Given the description of an element on the screen output the (x, y) to click on. 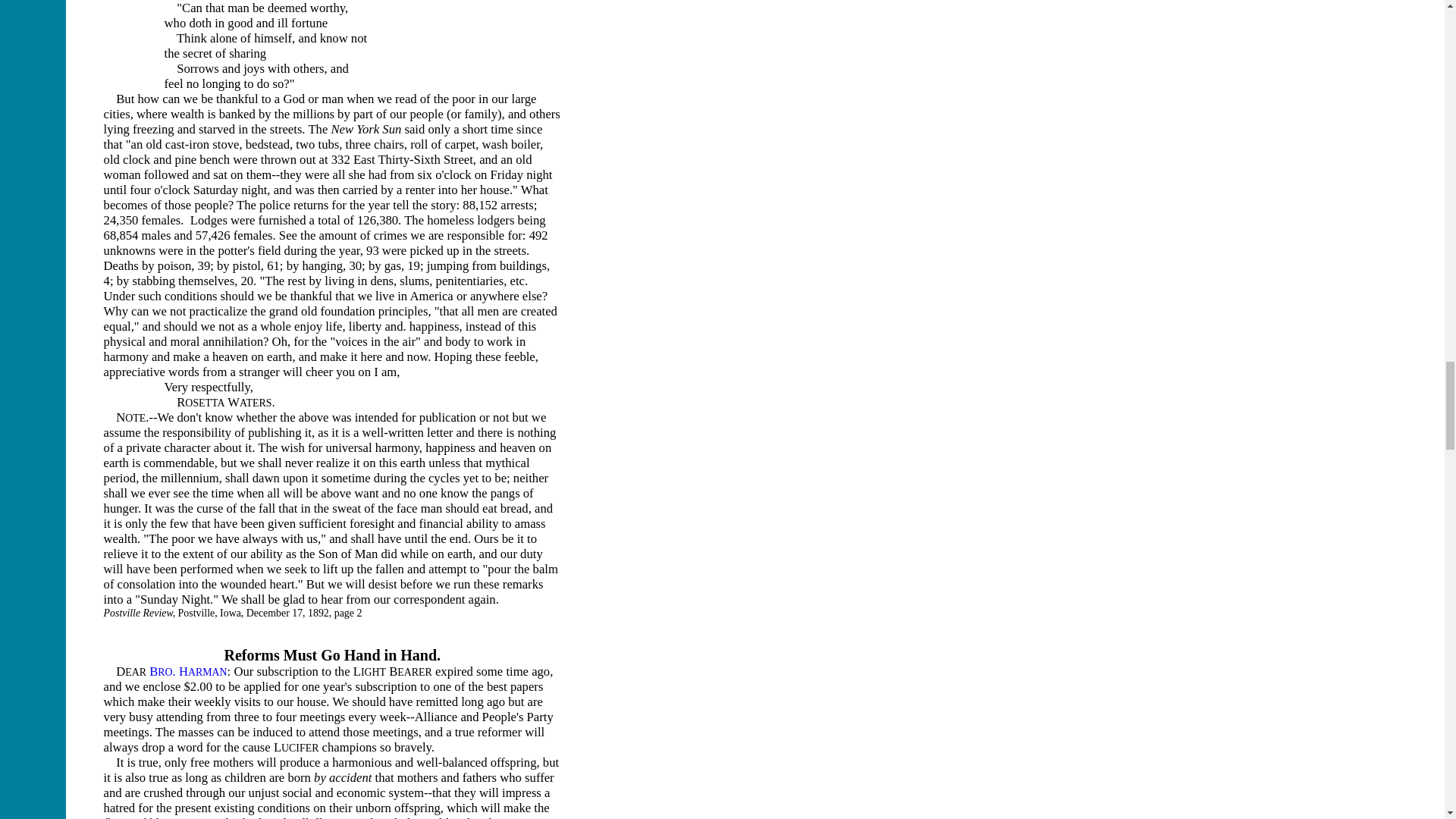
BRO. HARMAN (188, 671)
